Given the description of an element on the screen output the (x, y) to click on. 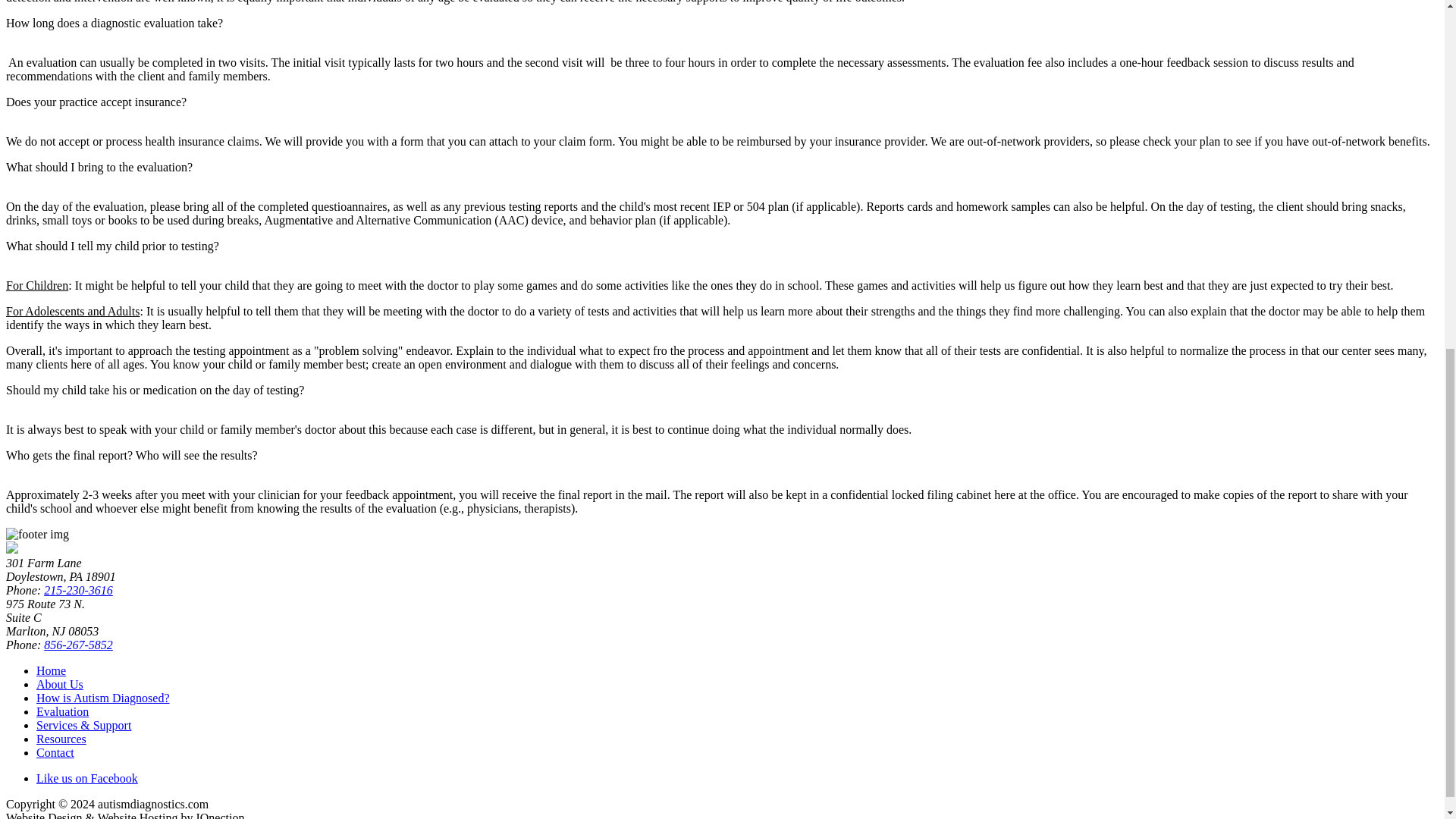
Does your practice accept insurance? (95, 101)
Who gets the final report? Who will see the results? (131, 454)
What should I tell my child prior to testing? (112, 245)
What should I bring to the evaluation? (98, 166)
How long does a diagnostic evaluation take? (113, 22)
